Given the description of an element on the screen output the (x, y) to click on. 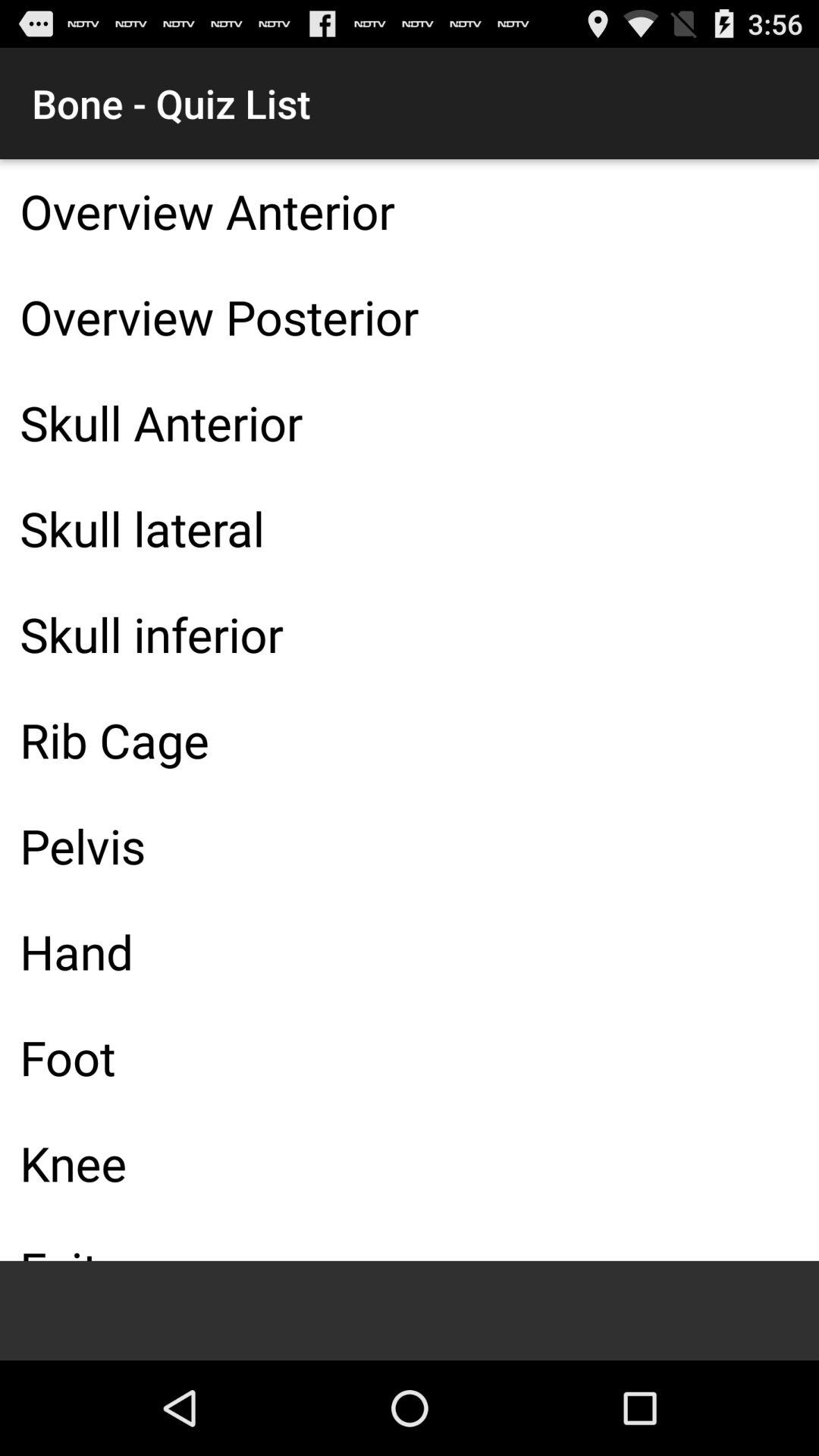
flip to the foot (409, 1057)
